Given the description of an element on the screen output the (x, y) to click on. 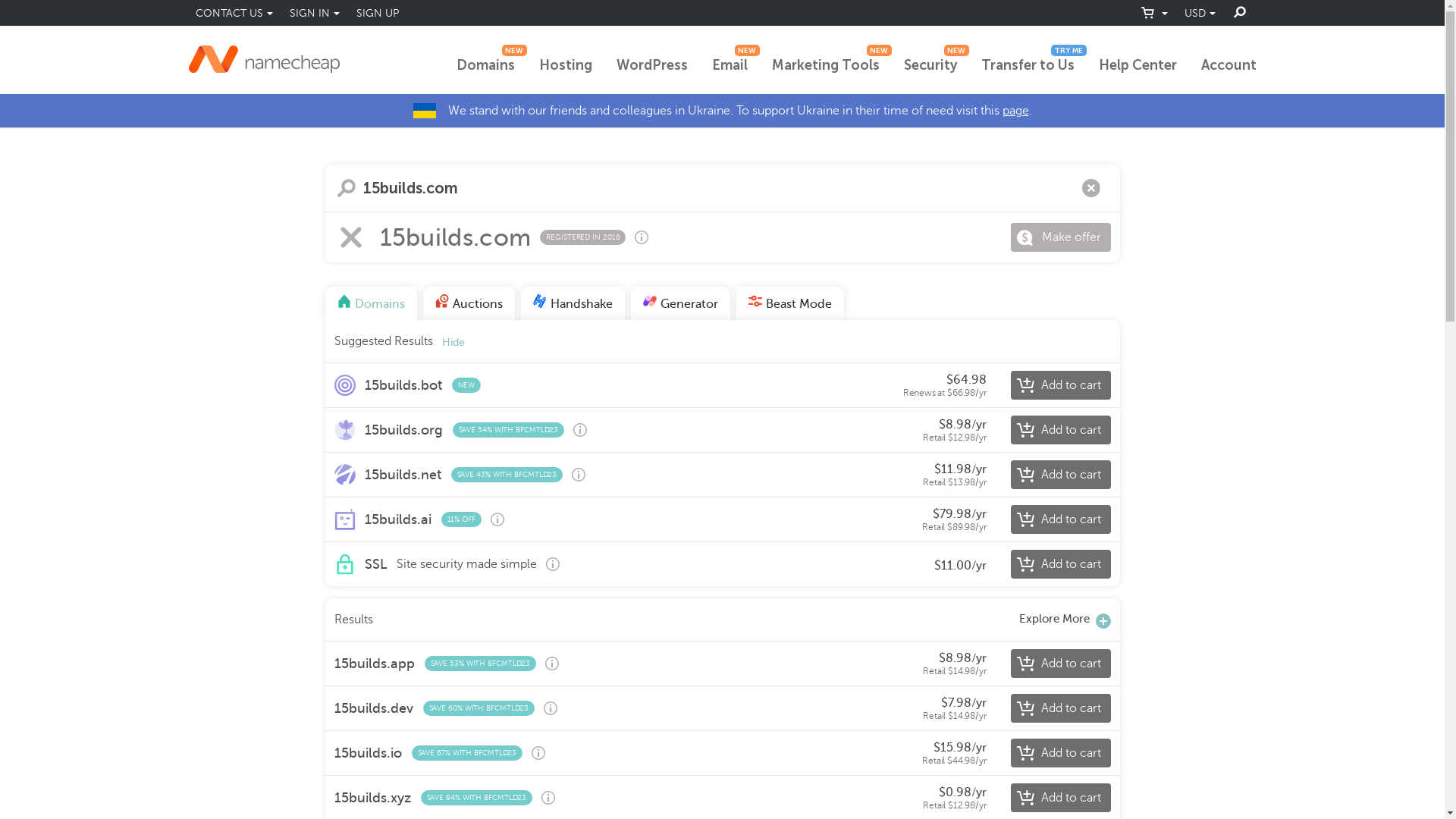
Marketing Tools
NEW Element type: text (825, 65)
Hide Element type: text (452, 342)
Help Center Element type: text (1137, 65)
Handshake Element type: text (572, 303)
Hosting Element type: text (564, 65)
Add to cart Element type: text (1060, 797)
Email
NEW Element type: text (728, 65)
page Element type: text (1015, 110)
Domains
NEW Element type: text (485, 65)
Explore More Element type: text (1064, 619)
Domains Element type: text (370, 303)
Add to cart Element type: text (1060, 663)
Add to cart Element type: text (1060, 474)
Auctions Element type: text (468, 303)
CONTACT US Element type: text (233, 12)
Add to cart Element type: text (1060, 707)
SIGN IN Element type: text (313, 12)
WordPress Element type: text (651, 65)
Transfer to Us
TRY ME Element type: text (1027, 65)
Add to cart Element type: text (1060, 563)
Add to cart Element type: text (1060, 752)
Security
NEW Element type: text (930, 65)
SIGN UP Element type: text (376, 12)
Add to cart Element type: text (1060, 519)
Add to cart Element type: text (1060, 384)
Beast Mode Element type: text (789, 303)
Add to cart Element type: text (1060, 429)
Search Element type: text (345, 187)
Generator Element type: text (680, 303)
